Given the description of an element on the screen output the (x, y) to click on. 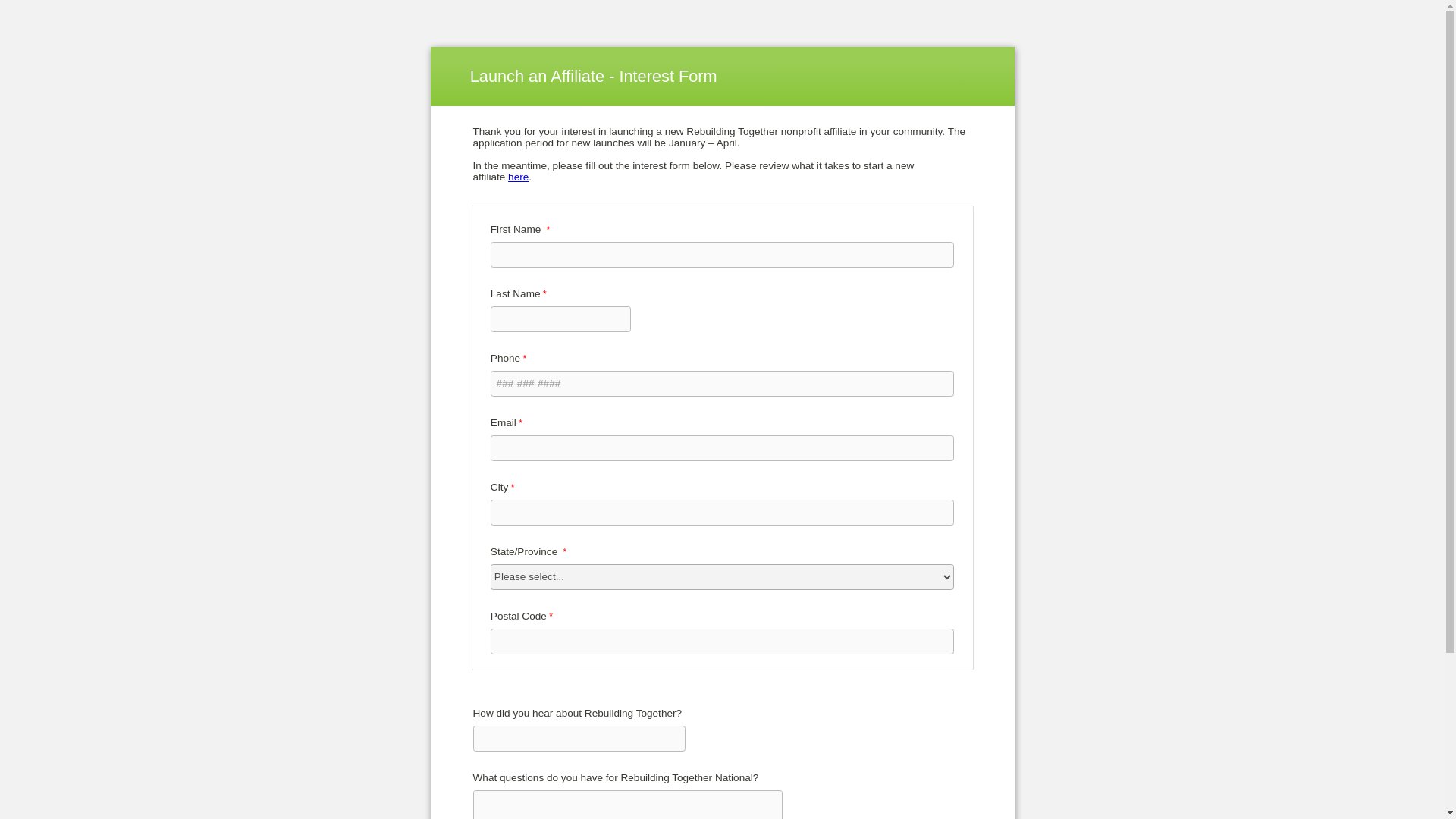
City (721, 512)
Postal Code (721, 641)
Phone (721, 383)
How did you hear about Rebuilding Together? (579, 738)
here (518, 176)
Last Name (560, 319)
Email (721, 447)
First Name  (721, 254)
